Given the description of an element on the screen output the (x, y) to click on. 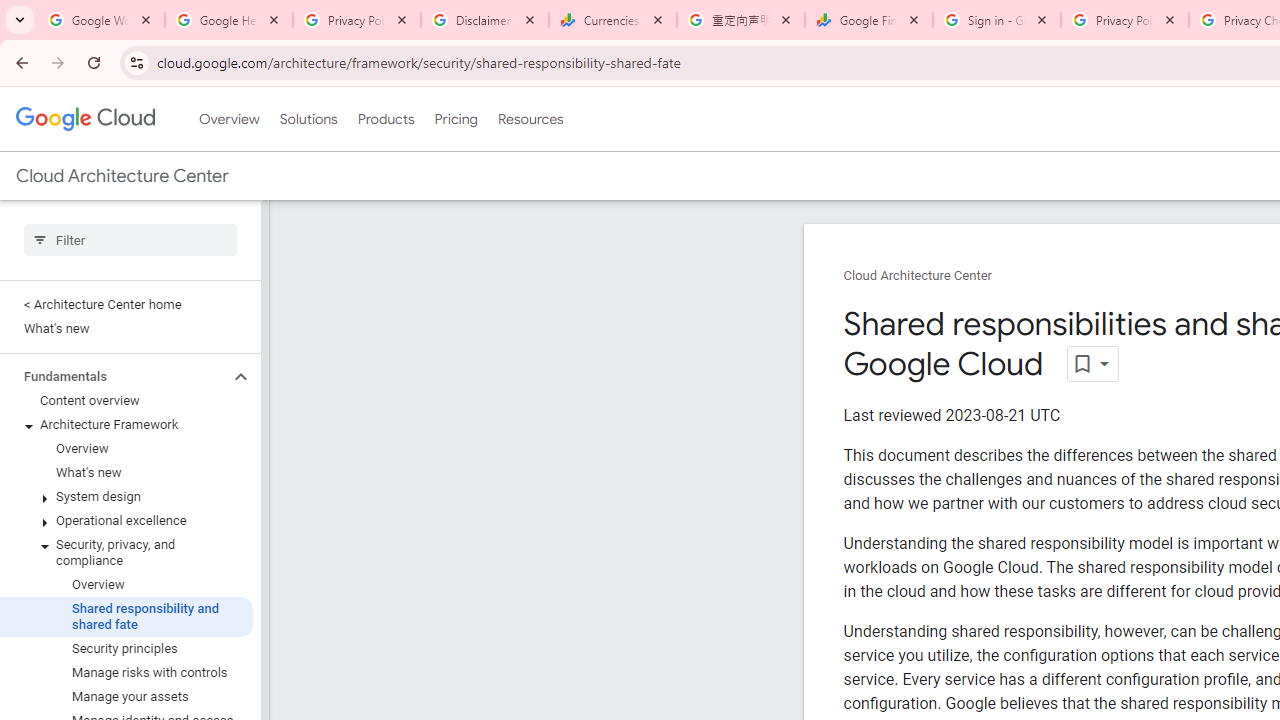
Type to filter (130, 239)
Cloud Architecture Center (917, 276)
Security, privacy, and compliance (126, 552)
Architecture Framework (126, 425)
Operational excellence (126, 520)
Currencies - Google Finance (613, 20)
What's new (126, 472)
Open dropdown (1092, 364)
